Given the description of an element on the screen output the (x, y) to click on. 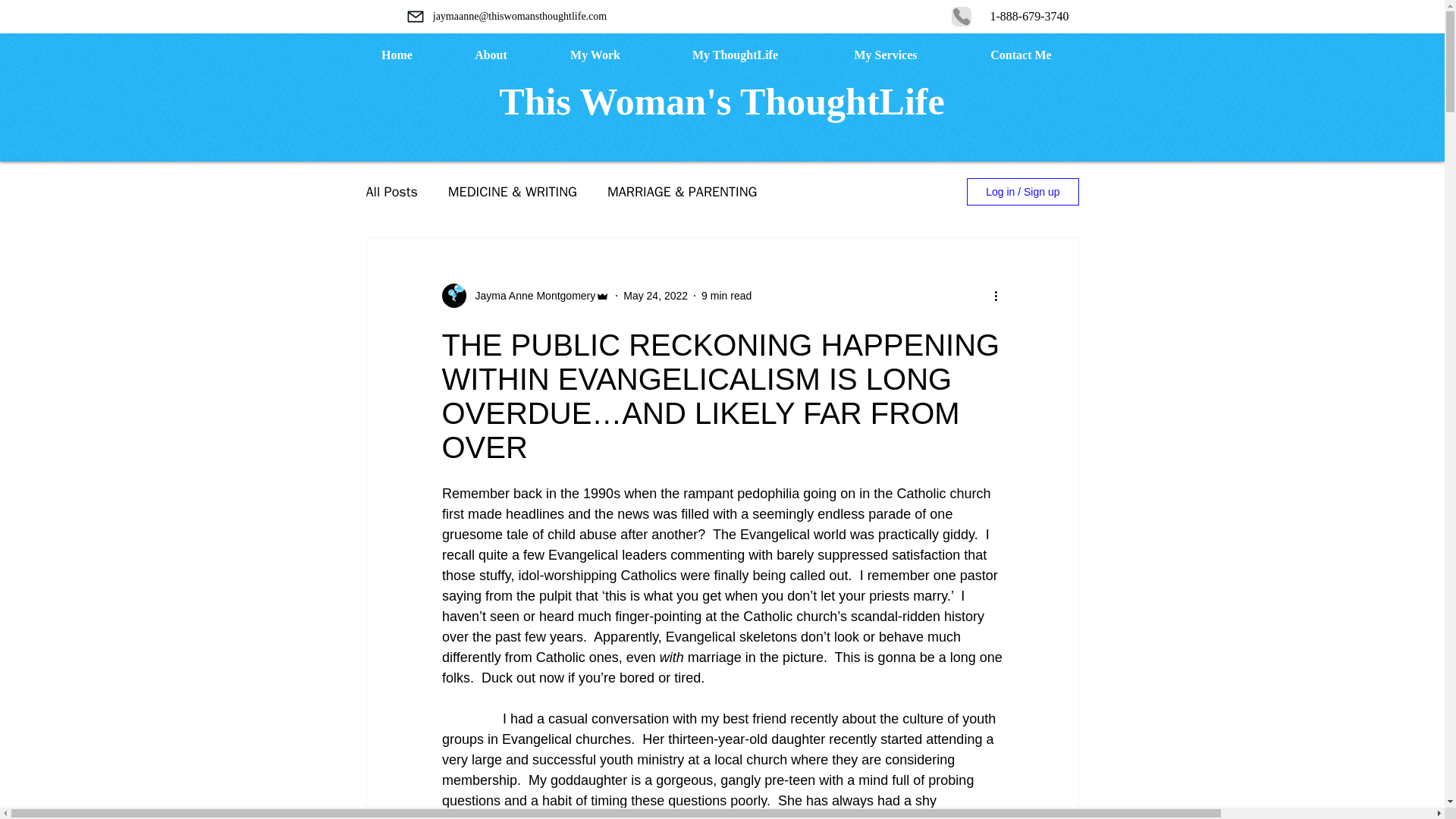
My ThoughtLife (735, 54)
My Services (885, 54)
9 min read (726, 295)
All Posts (390, 191)
About (490, 54)
My Work (594, 54)
Home (396, 54)
May 24, 2022 (655, 295)
Jayma Anne Montgomery (530, 295)
1-888-679-3740 (1027, 16)
Contact Me (1020, 54)
This Woman's ThoughtLife (721, 101)
